Given the description of an element on the screen output the (x, y) to click on. 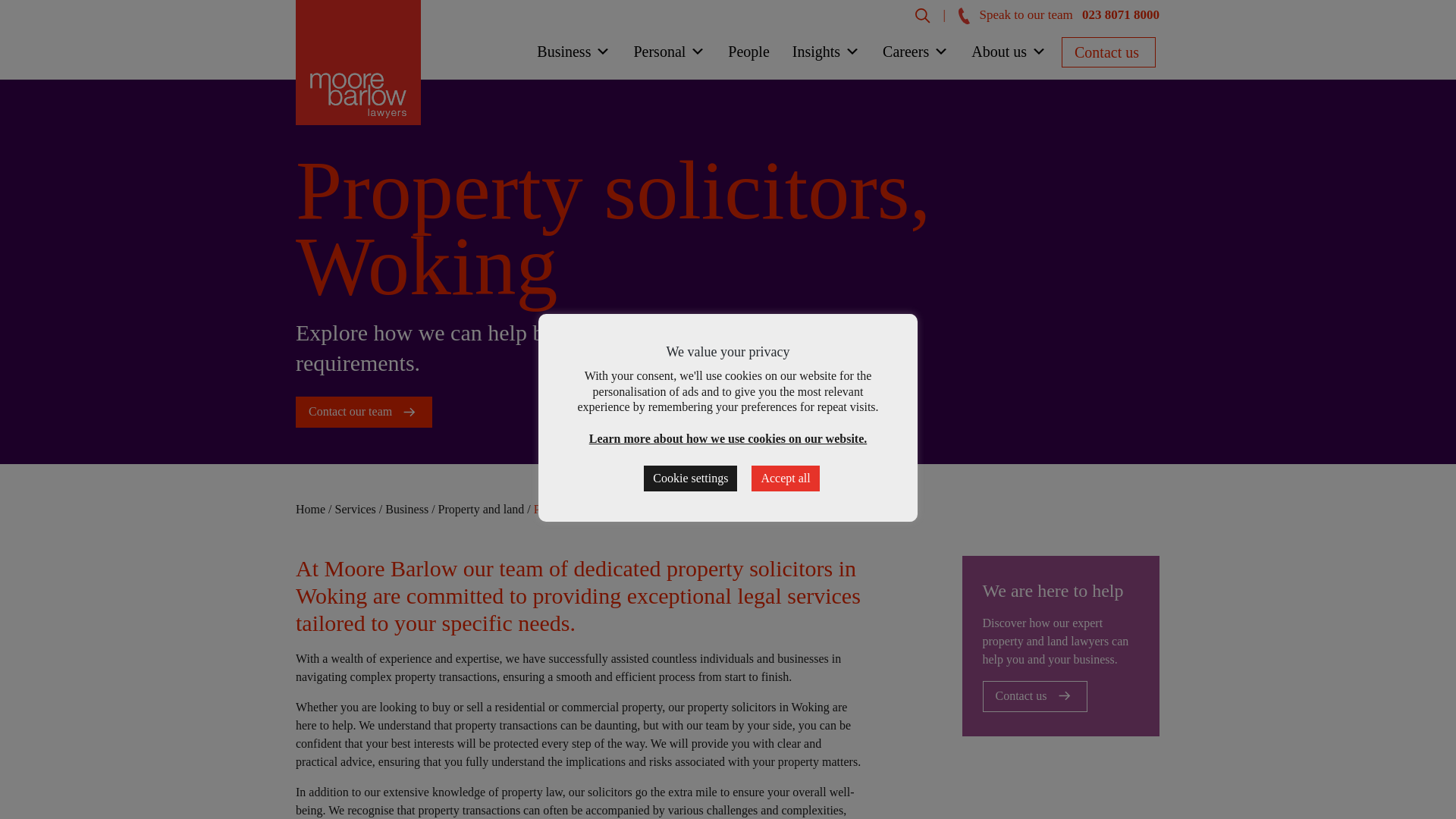
Speak to our team 023 8071 8000 (1058, 14)
Search Moore Barlow (922, 14)
Business (573, 55)
